Given the description of an element on the screen output the (x, y) to click on. 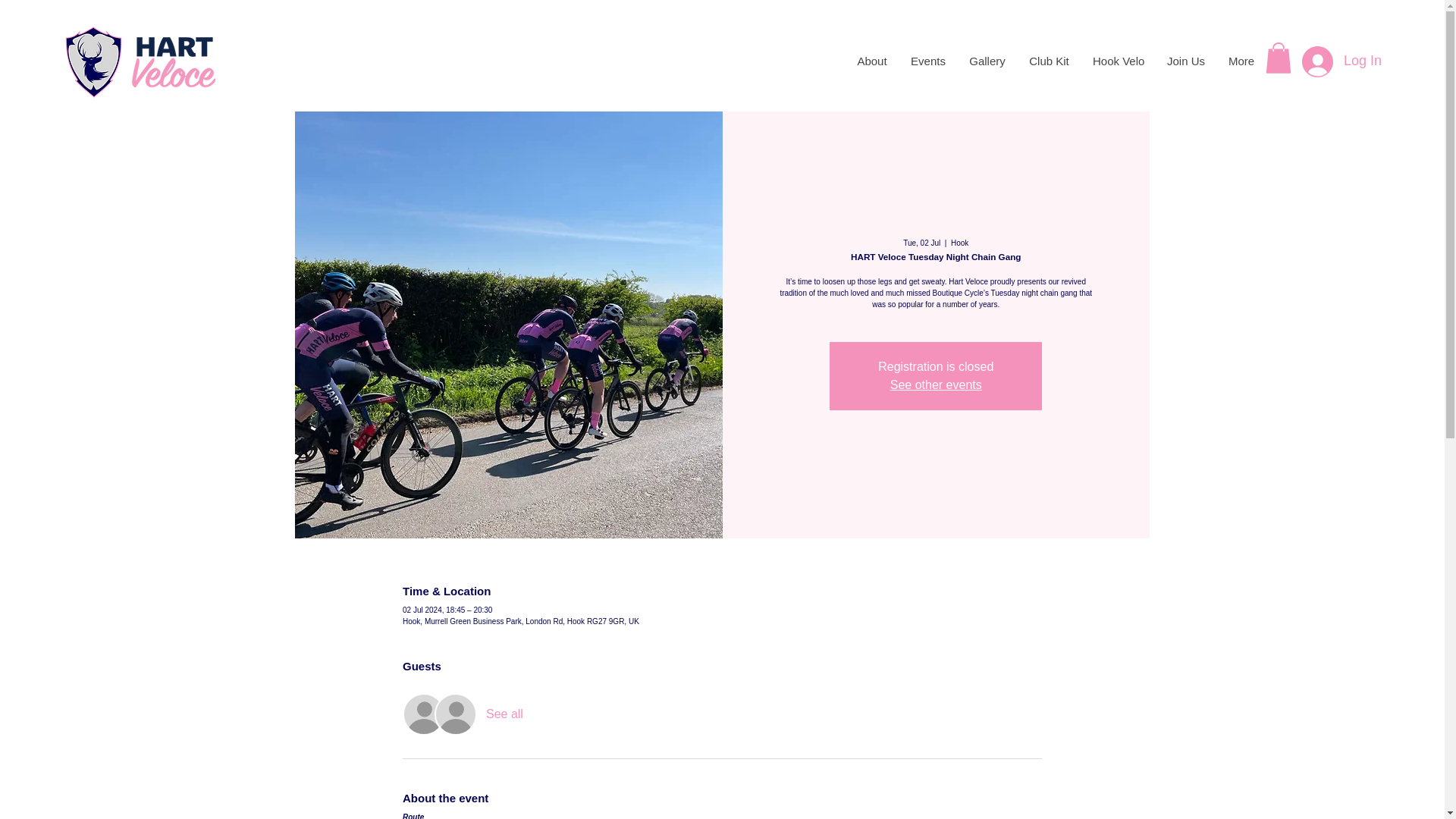
Join Us (1184, 61)
See other events (935, 384)
Hook Velo (1117, 61)
About (871, 61)
See all (504, 713)
Club Kit (1048, 61)
Log In (1340, 60)
